Given the description of an element on the screen output the (x, y) to click on. 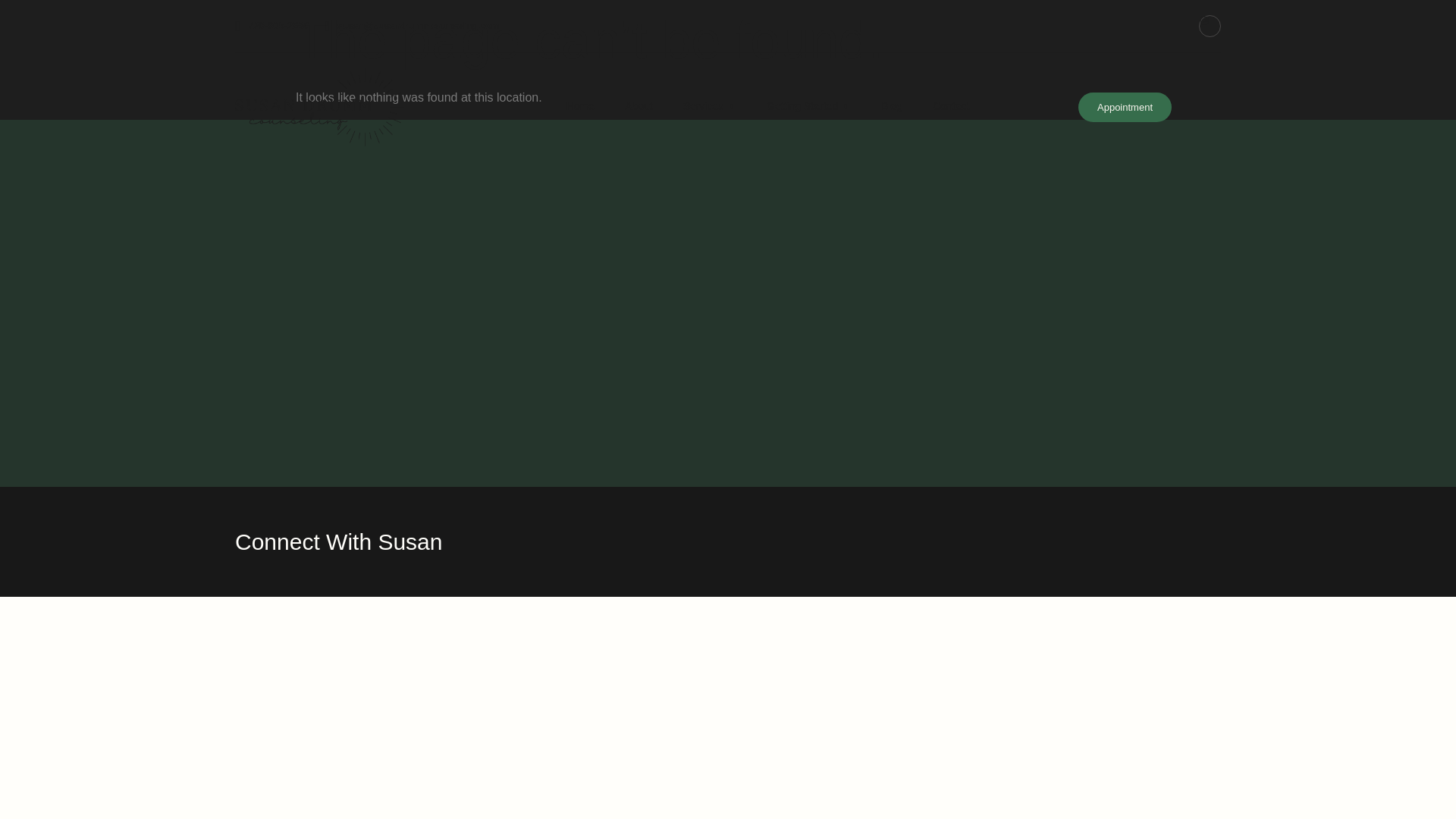
About (639, 105)
Getting Started (808, 105)
Appointment (1125, 107)
Home (580, 105)
Blog (891, 105)
Services (709, 105)
Contact (950, 105)
720-605-2930 (271, 25)
